Given the description of an element on the screen output the (x, y) to click on. 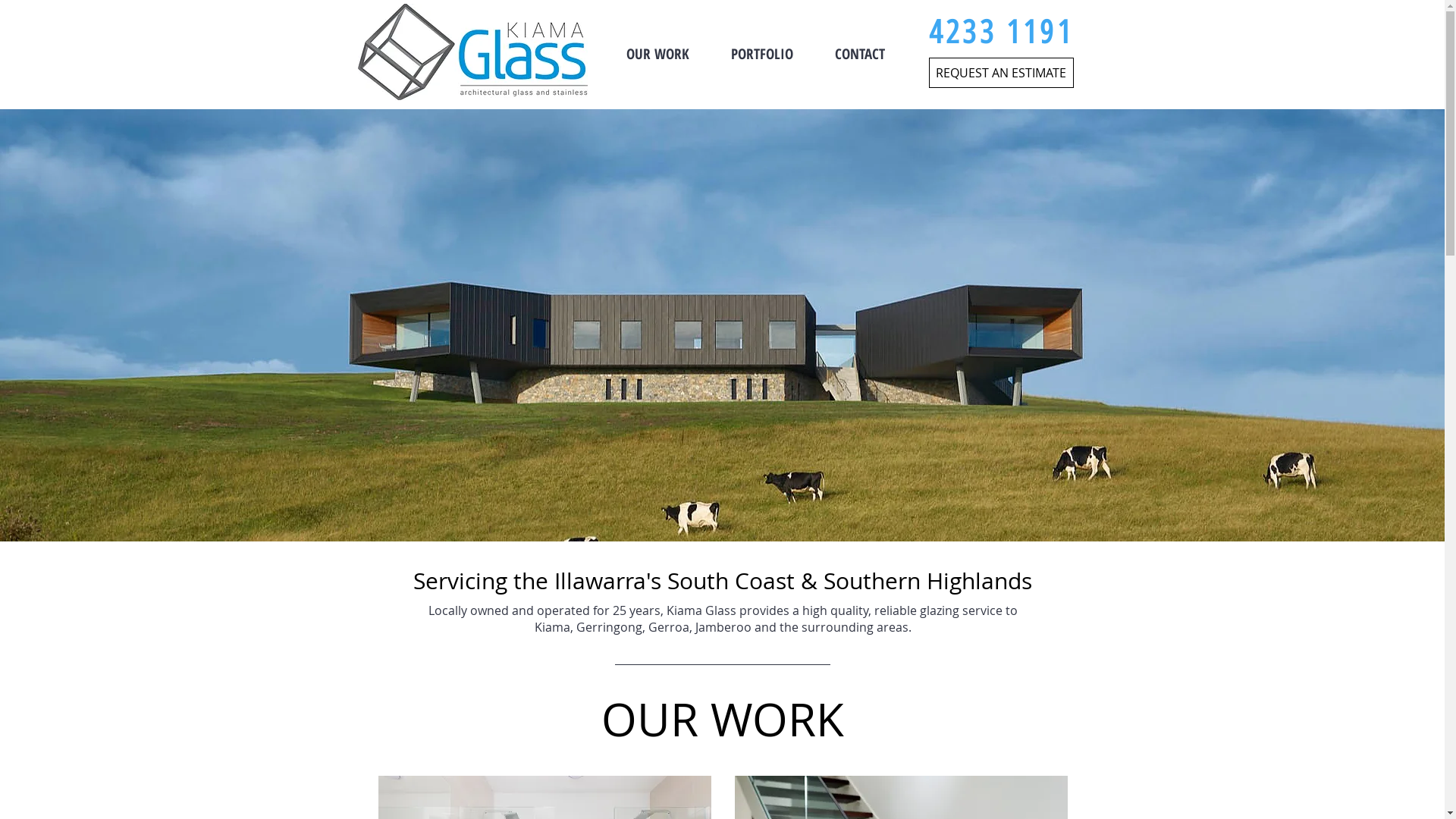
CONTACT Element type: text (859, 53)
PORTFOLIO Element type: text (761, 53)
OUR WORK Element type: text (657, 53)
REQUEST AN ESTIMATE Element type: text (1000, 72)
